Given the description of an element on the screen output the (x, y) to click on. 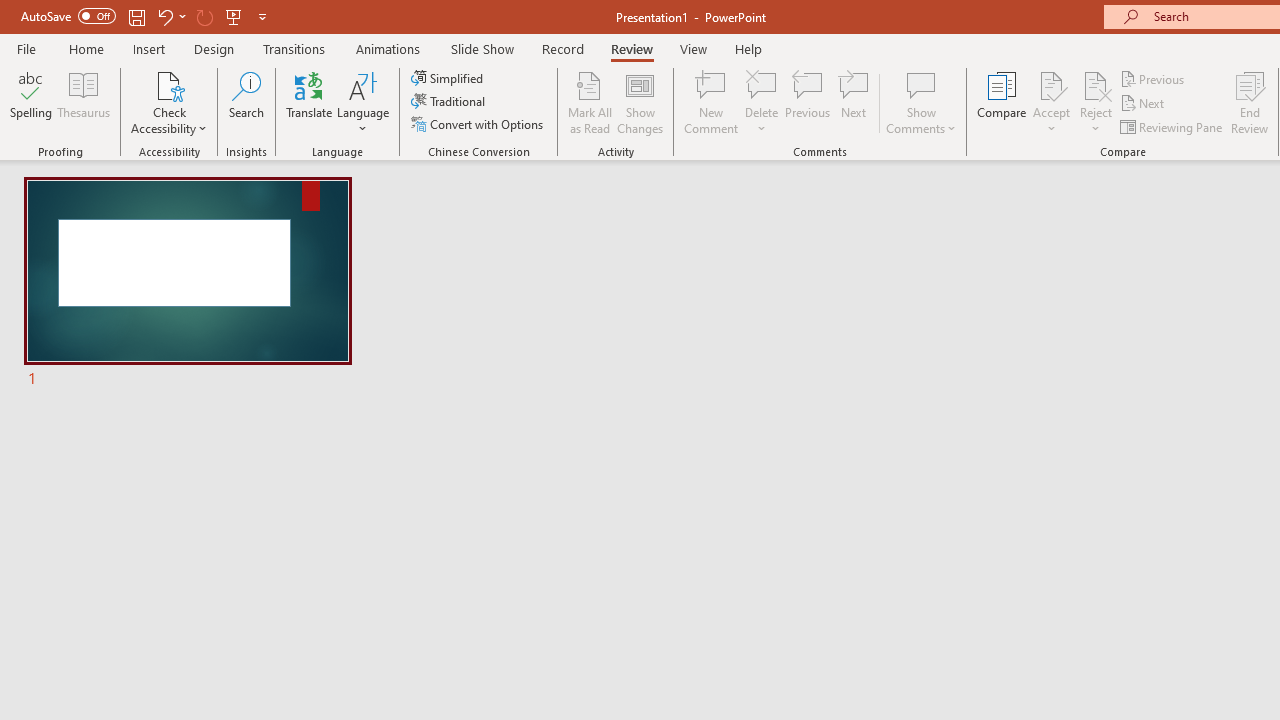
Thesaurus... (83, 102)
Reject Change (1096, 84)
Compare (1002, 102)
Reject (1096, 102)
